Given the description of an element on the screen output the (x, y) to click on. 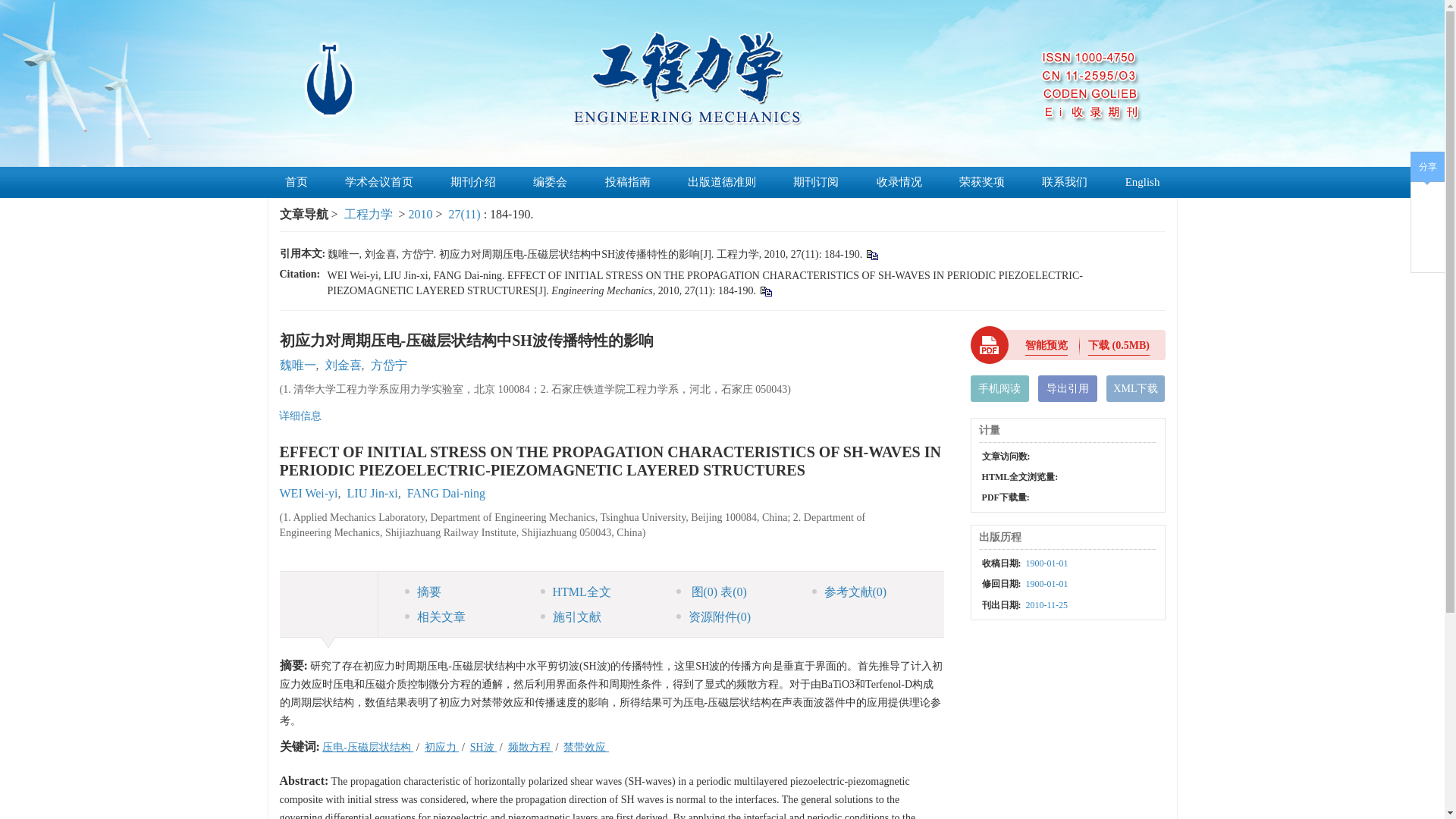
copy to clipboard (764, 290)
English (1142, 182)
2010 (420, 214)
